Given the description of an element on the screen output the (x, y) to click on. 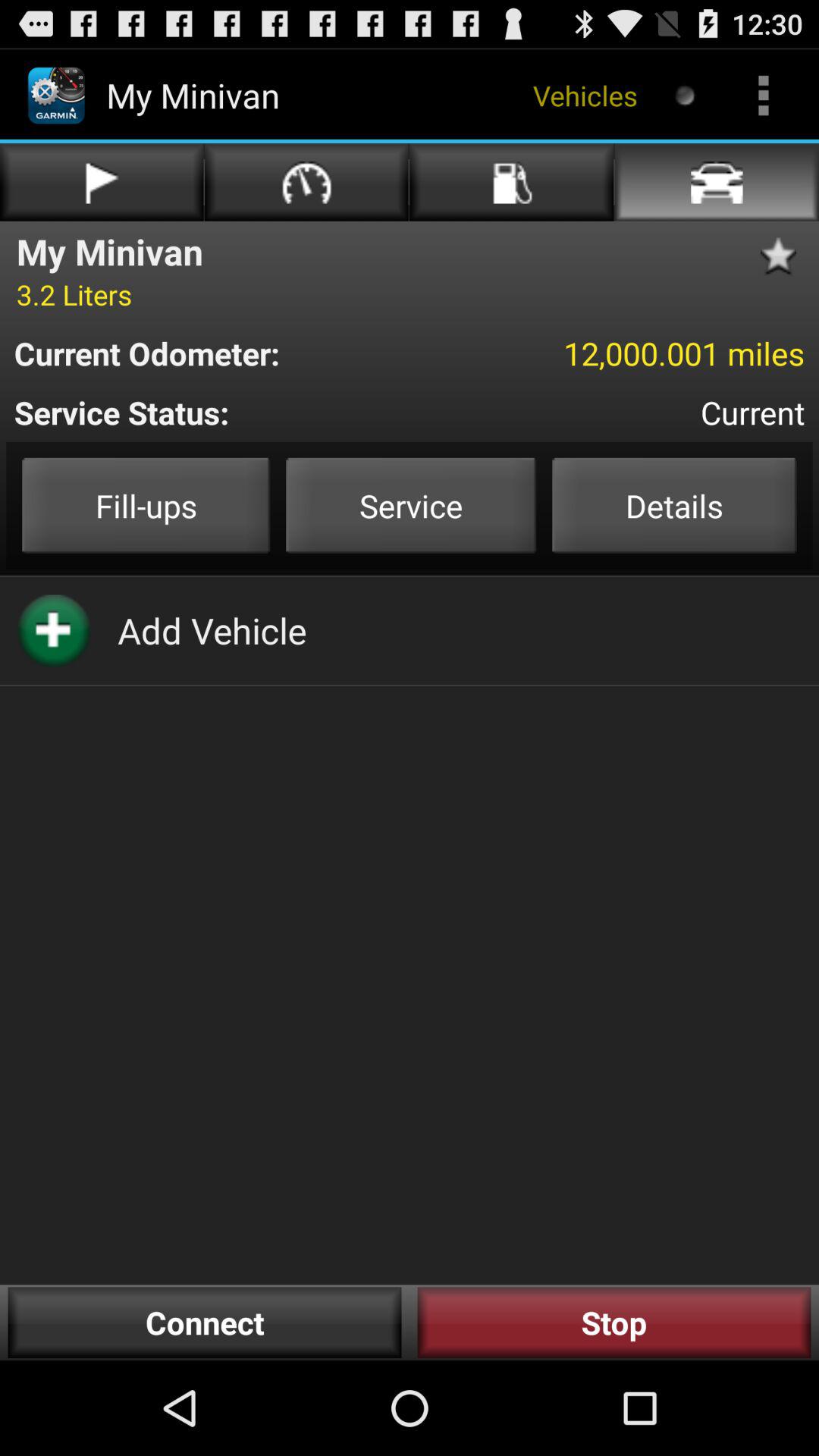
turn on the app above service status: app (217, 352)
